Given the description of an element on the screen output the (x, y) to click on. 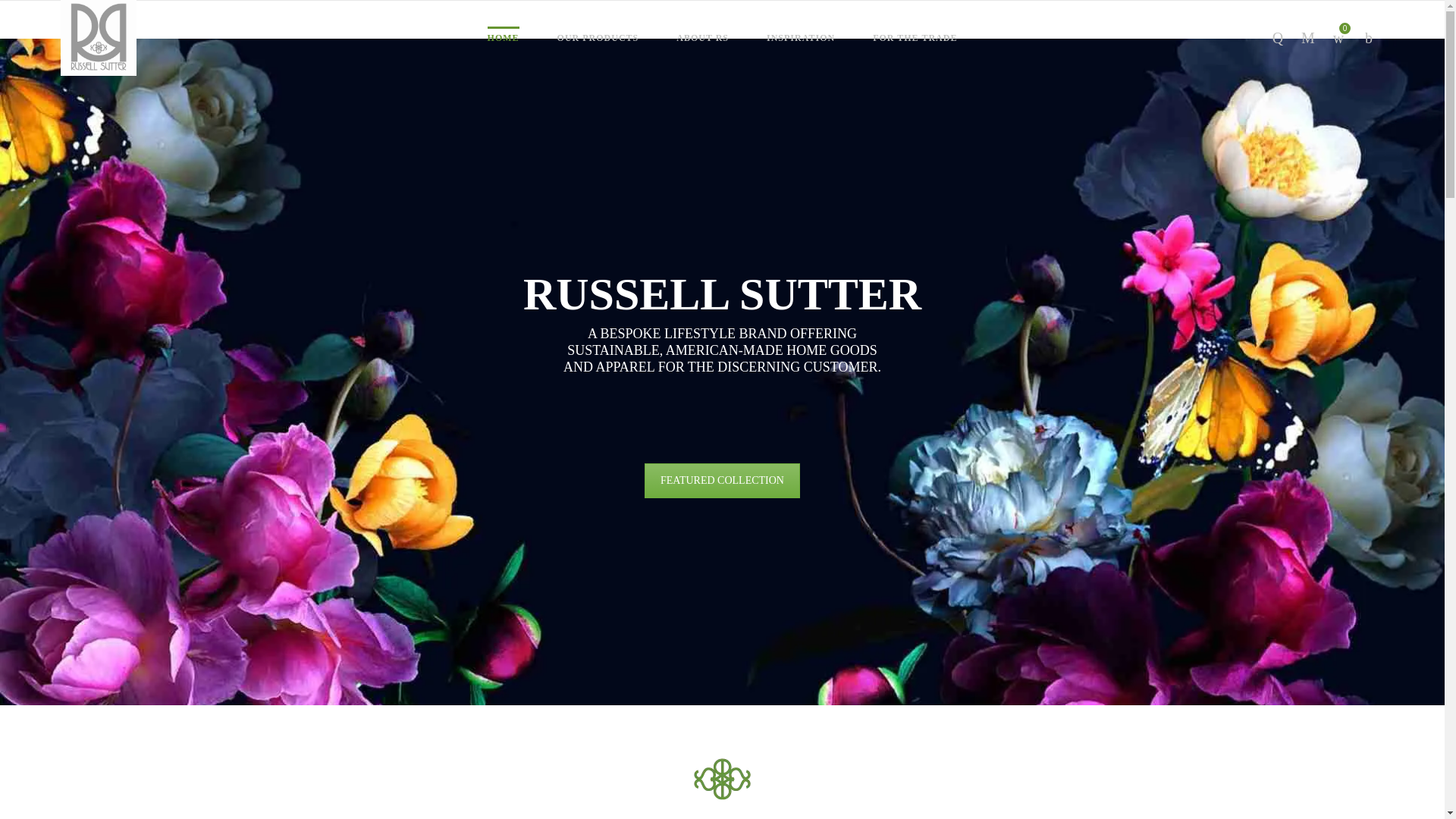
OUR PRODUCTS (598, 37)
FOR THE TRADE (914, 37)
HOME (503, 37)
Deco Noir Collection (722, 480)
logo (722, 778)
ABOUT RS (702, 37)
INSPIRATION (800, 37)
